Given the description of an element on the screen output the (x, y) to click on. 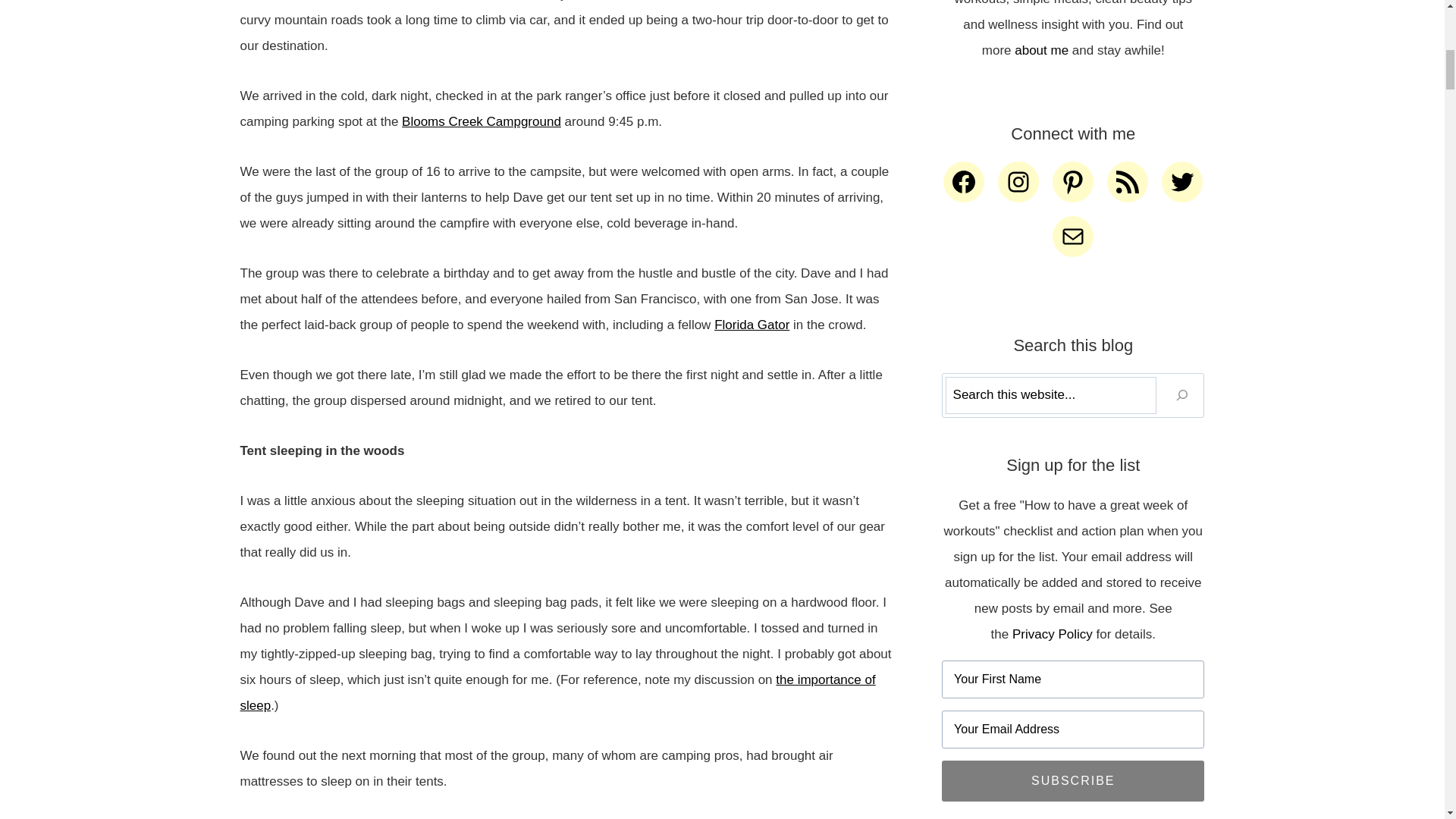
Florida Gator (751, 324)
Sleep is an important part of a healthy life (557, 692)
Blooms Creek Campground (480, 121)
Blooms Creek Campground (480, 121)
the importance of sleep (557, 692)
Florida Gator (751, 324)
